Given the description of an element on the screen output the (x, y) to click on. 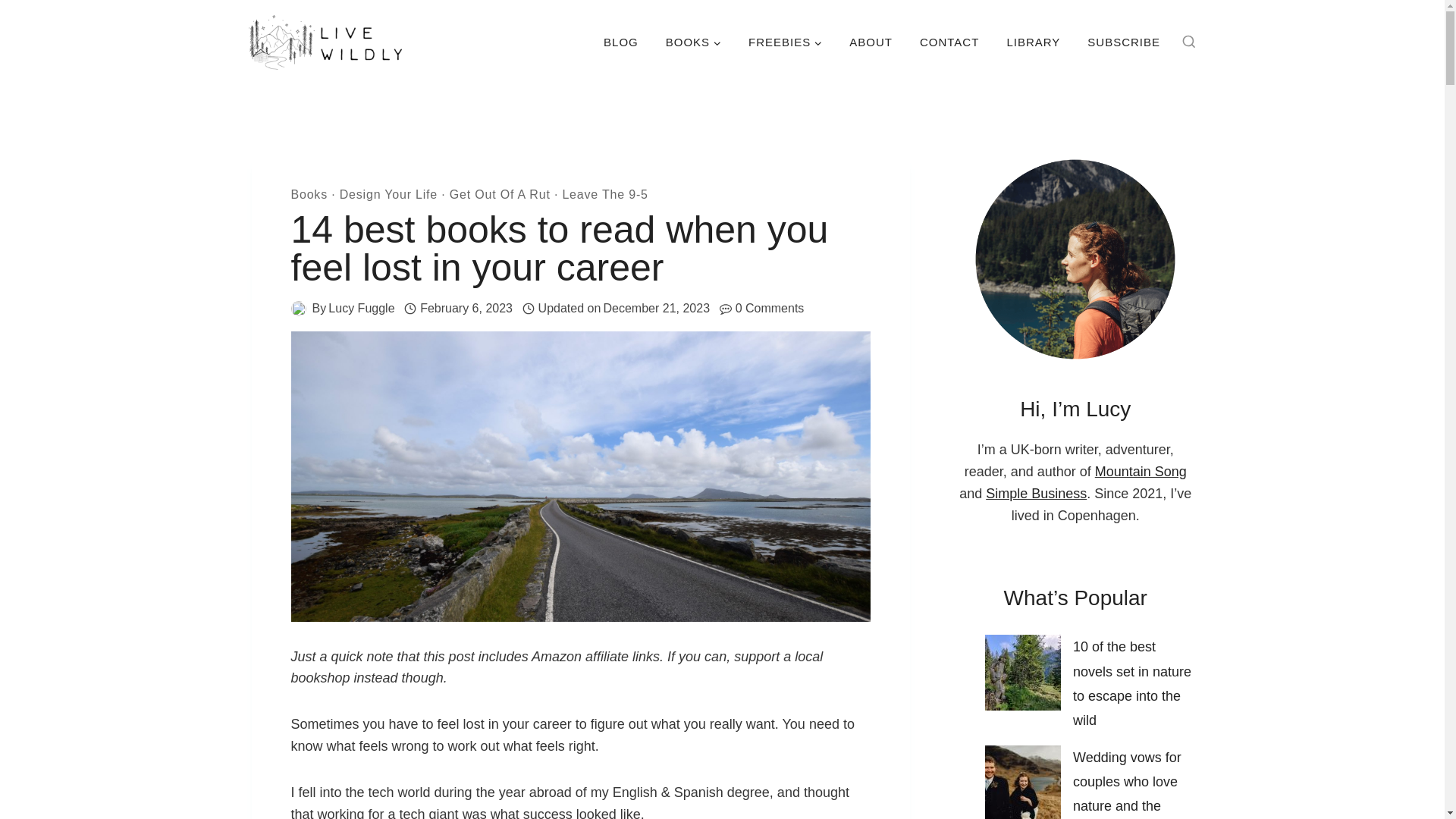
0 Comments (770, 308)
0 Comments (770, 308)
Design Your Life (388, 194)
BLOG (620, 42)
FREEBIES (785, 42)
CONTACT (948, 42)
Lucy Fuggle (361, 308)
LIBRARY (1033, 42)
SUBSCRIBE (1123, 42)
BOOKS (693, 42)
